Given the description of an element on the screen output the (x, y) to click on. 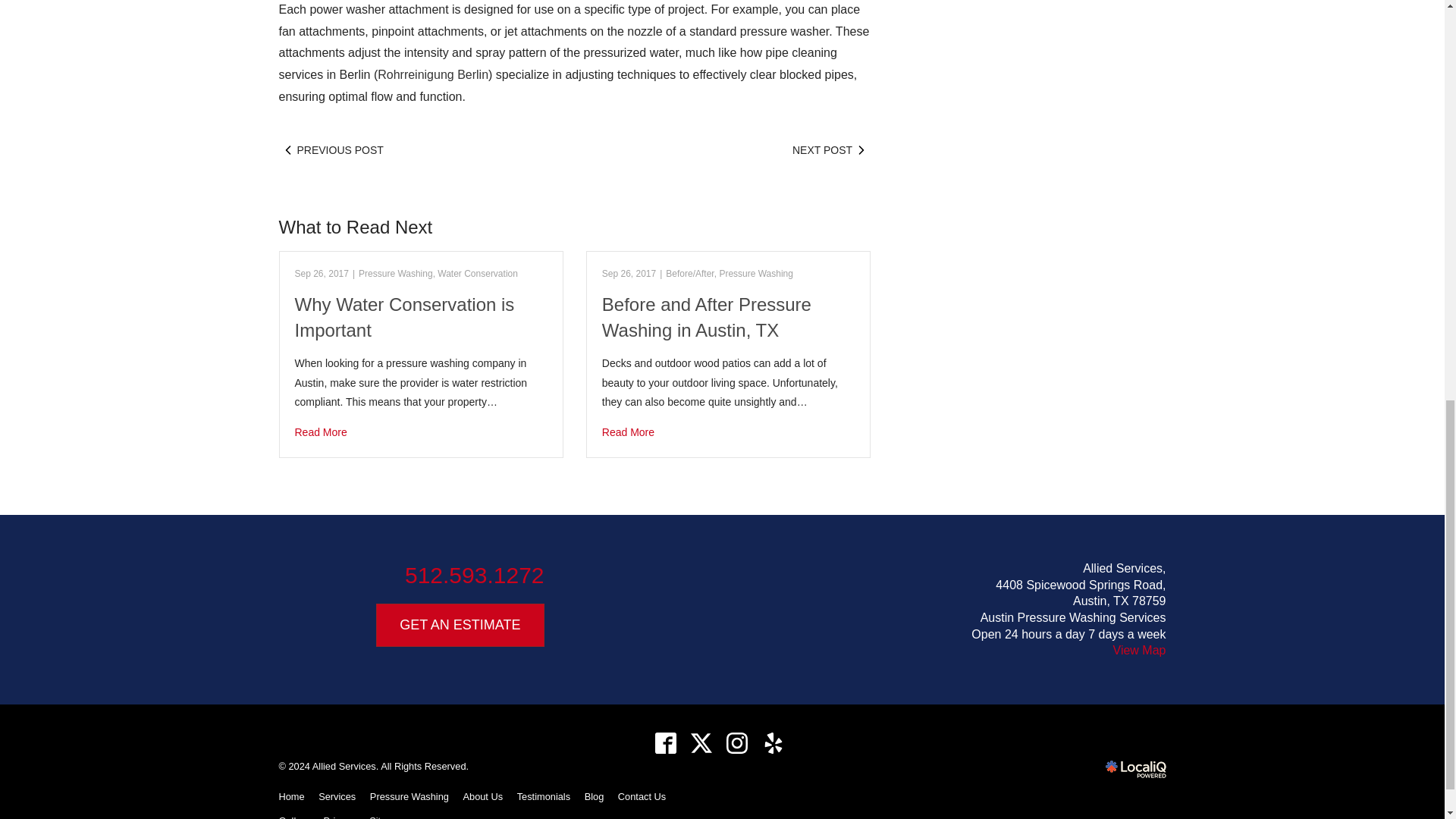
instagram (737, 743)
Before and After Pressure Washing in Austin, TX (728, 432)
twitter (701, 743)
Why Water Conservation is Important (420, 432)
facebook (665, 743)
yelp (773, 743)
